Given the description of an element on the screen output the (x, y) to click on. 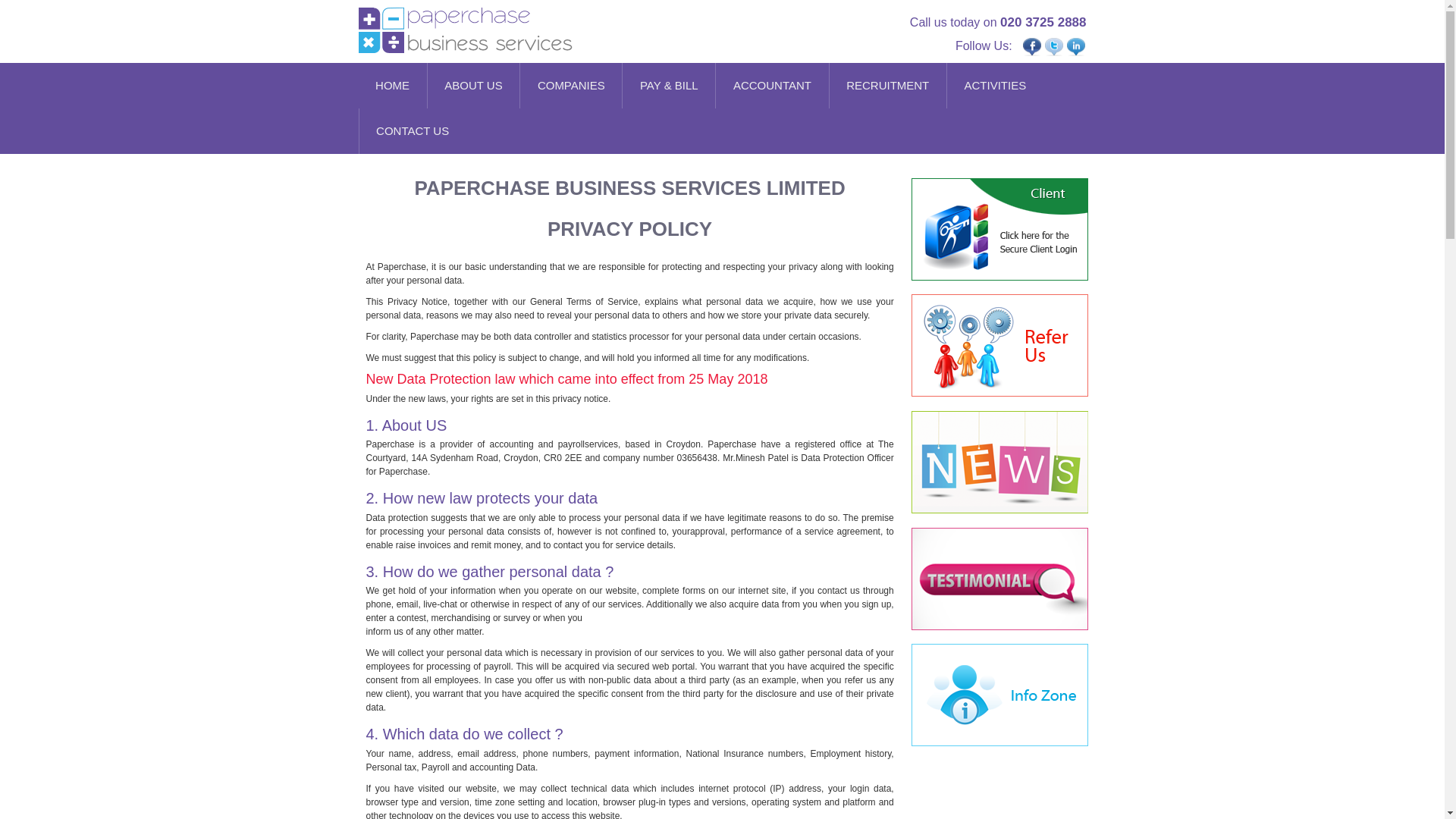
CONTACT US (412, 130)
ACCOUNTANT (772, 84)
ACTIVITIES (995, 84)
ABOUT US (473, 84)
COMPANIES (570, 84)
Linkdine (1075, 46)
Skip to secondary content (427, 92)
Facebook (1032, 46)
RECRUITMENT (887, 84)
About Us (473, 84)
